Given the description of an element on the screen output the (x, y) to click on. 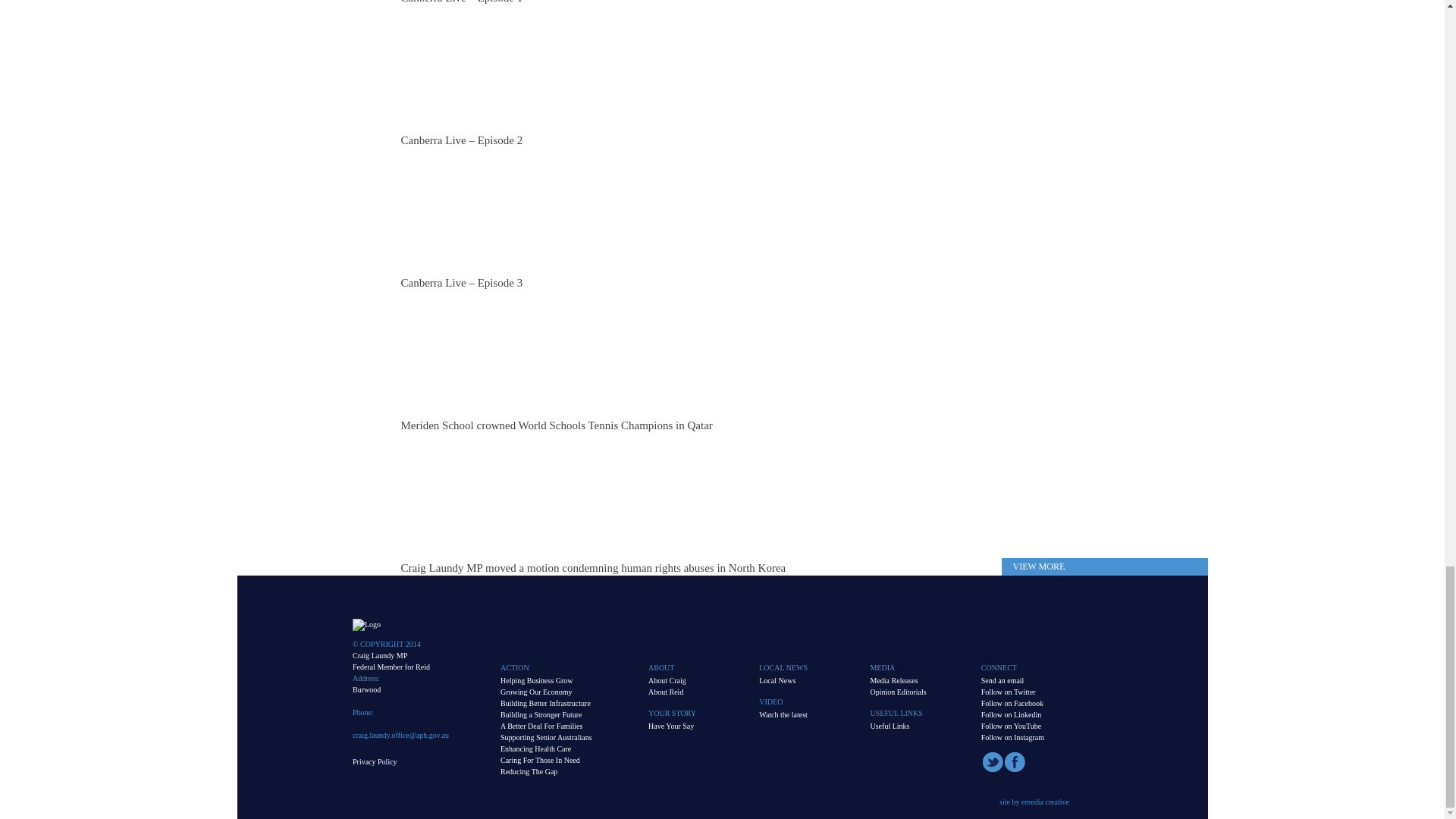
Home Logo (366, 623)
